Given the description of an element on the screen output the (x, y) to click on. 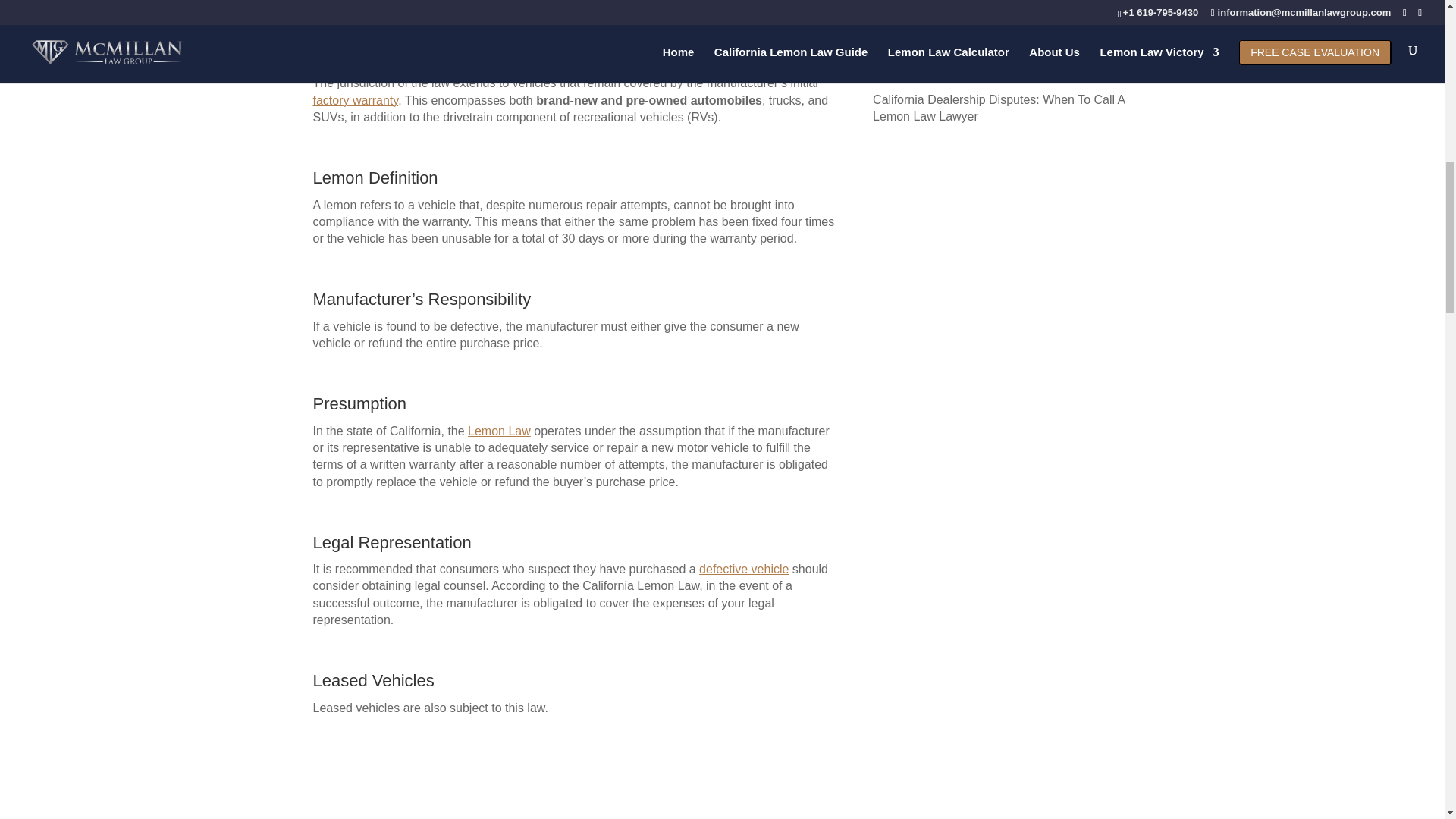
Lemon Law (499, 431)
defective vehicle (743, 568)
factory warranty (355, 100)
